Given the description of an element on the screen output the (x, y) to click on. 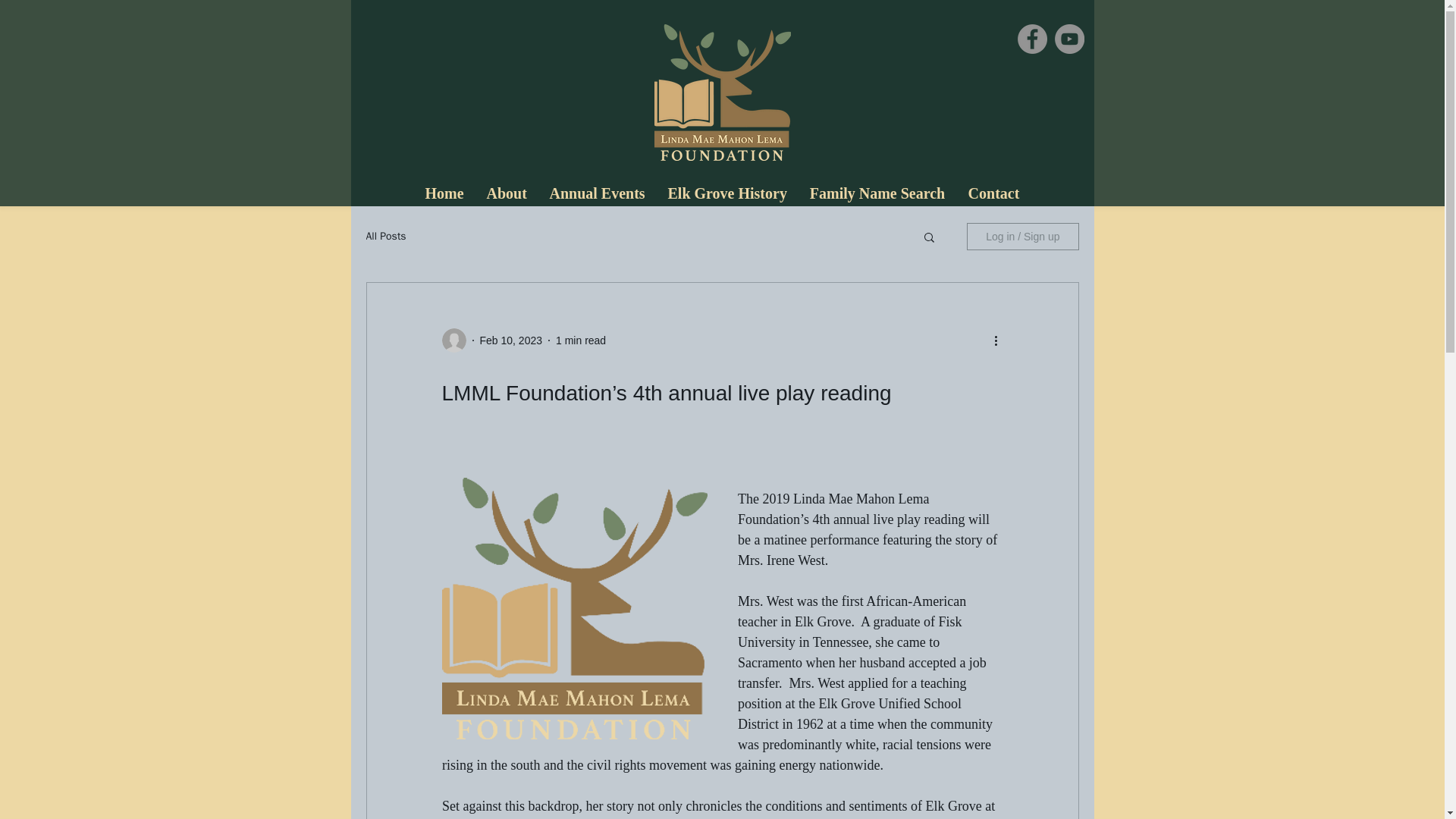
About (505, 193)
Feb 10, 2023 (510, 339)
History into the Future (721, 92)
Annual Events (597, 193)
All Posts (385, 236)
Home (444, 193)
Family Name Search (876, 193)
Contact (993, 193)
Elk Grove History (726, 193)
1 min read (580, 339)
